Given the description of an element on the screen output the (x, y) to click on. 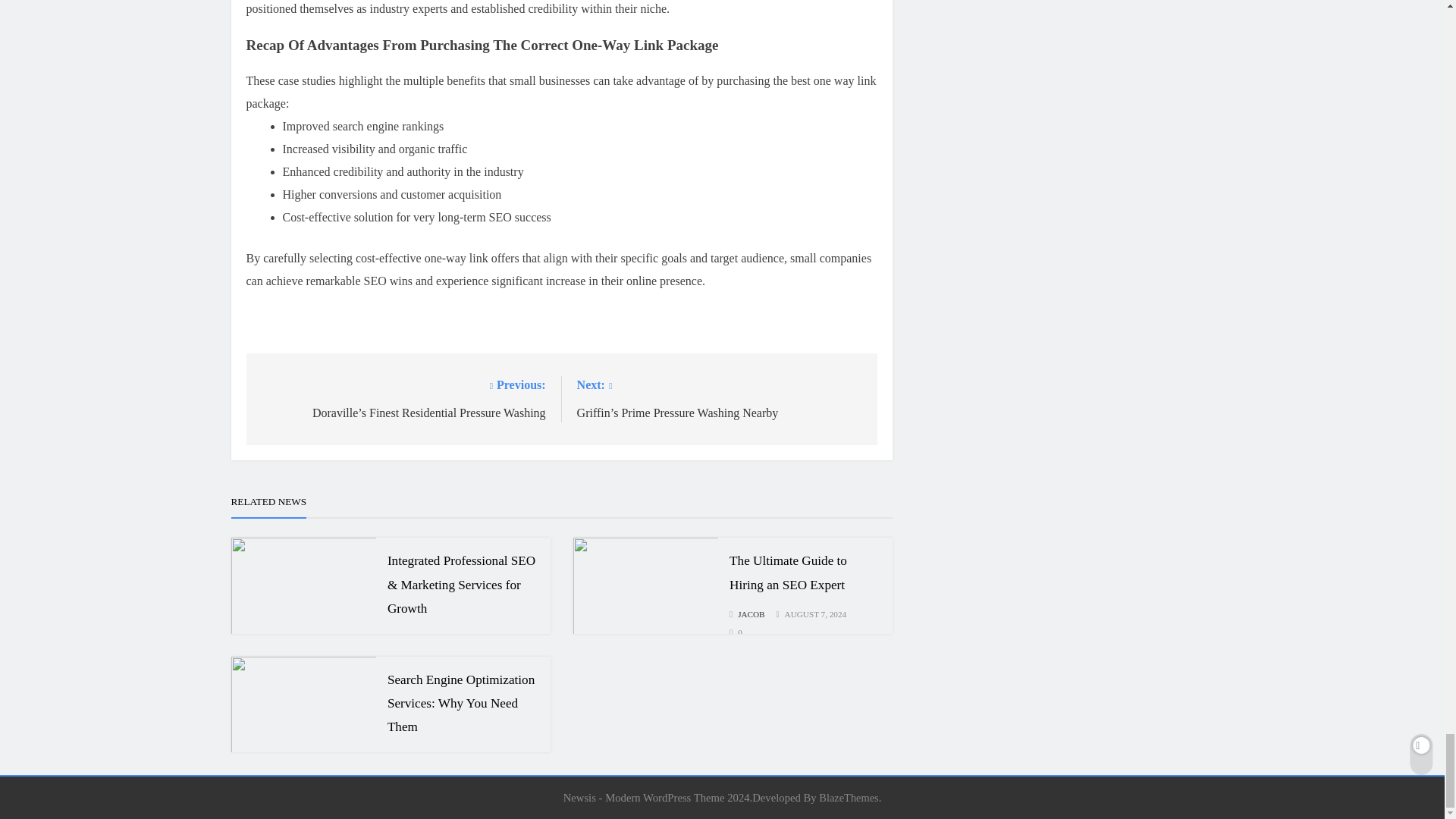
The Ultimate Guide to Hiring an SEO Expert (788, 572)
AUGUST 7, 2024 (815, 614)
Search Engine Optimization Services: Why You Need Them (460, 702)
AUGUST 7, 2024 (472, 755)
AUGUST 7, 2024 (472, 637)
JACOB (746, 614)
